Given the description of an element on the screen output the (x, y) to click on. 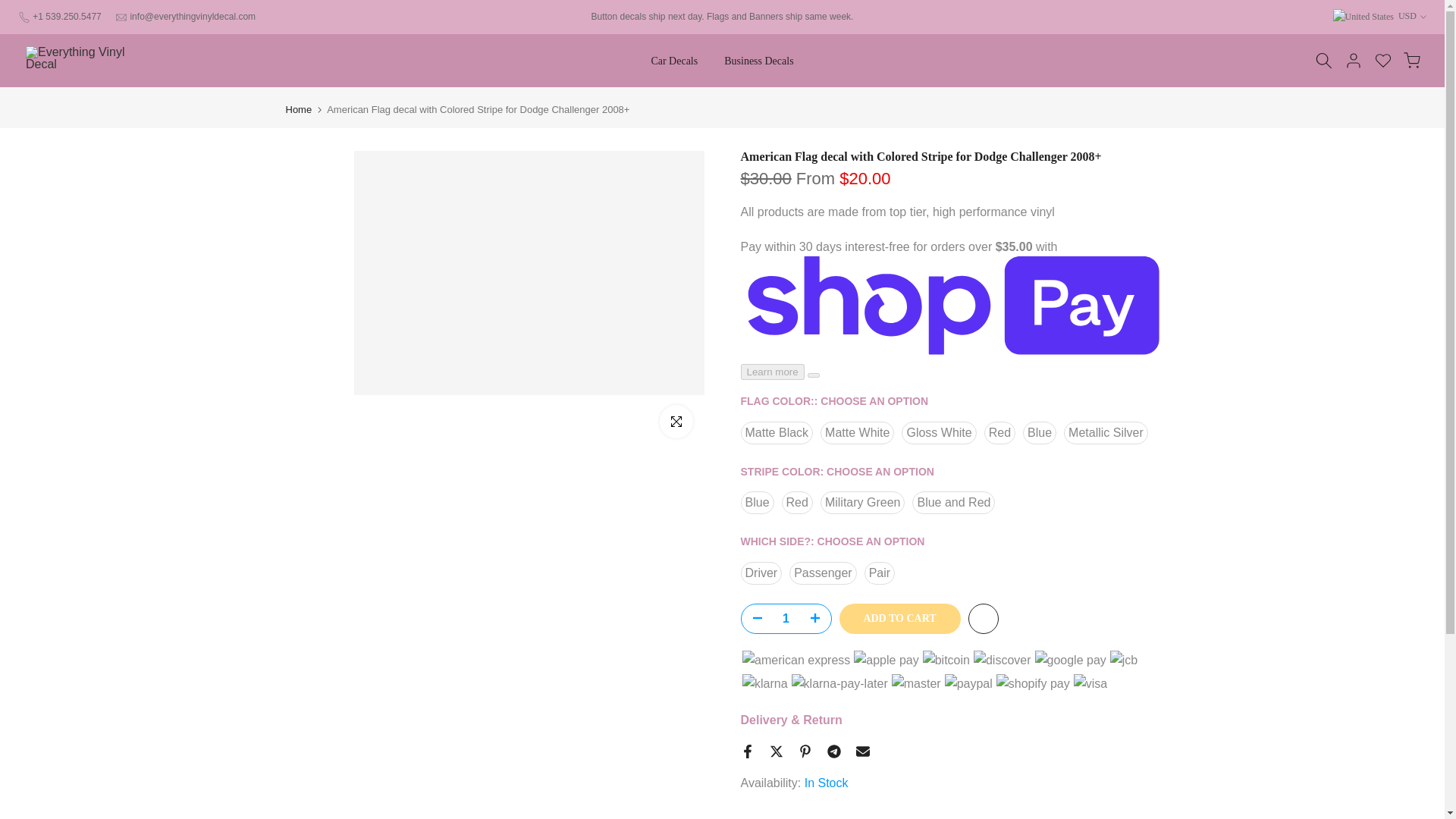
Share on Email (862, 751)
Share on Pinterest (803, 751)
1 (786, 618)
Share on Twitter (775, 751)
Share on Telegram (833, 751)
Share on Facebook (746, 751)
Skip to content (10, 7)
USD (1379, 16)
